Given the description of an element on the screen output the (x, y) to click on. 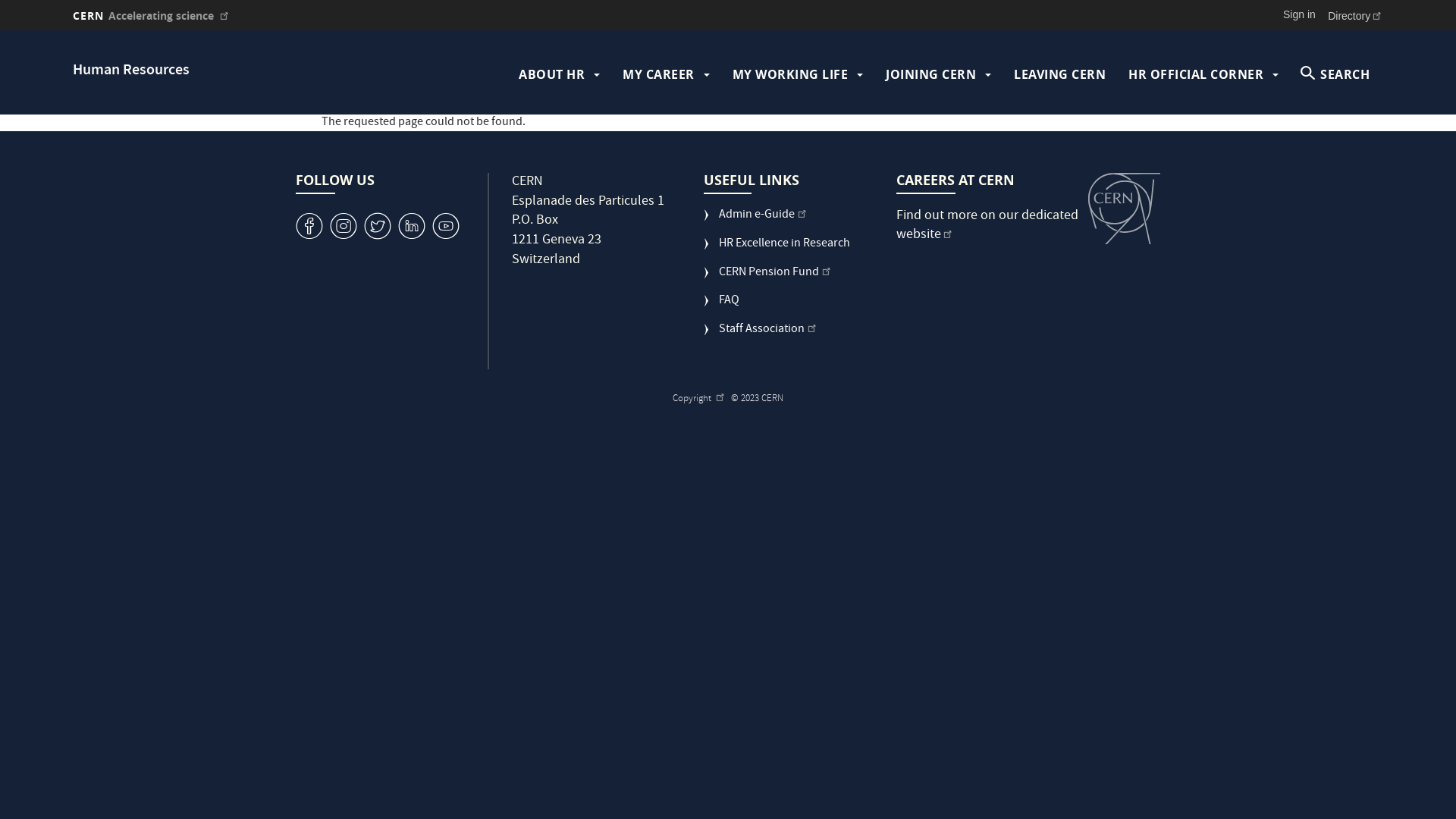
Admin e-Guide(link is external) Element type: text (755, 221)
1 Element type: text (445, 226)
Staff Association(link is external) Element type: text (760, 335)
Copyright (link is external) Element type: text (699, 399)
ABOUT HR Element type: text (551, 74)
Human Resources Element type: text (130, 70)
Sign in Element type: text (1299, 14)
HR OFFICIAL CORNER Element type: text (1195, 74)
HR Excellence in Research Element type: text (776, 249)
Directory(link is external) Element type: text (1355, 14)
J Element type: text (343, 226)
v Element type: text (309, 226)
FAQ Element type: text (721, 306)
CERN Accelerating science (link is external) Element type: text (151, 14)
JOINING CERN Element type: text (930, 74)
W Element type: text (377, 226)
LEAVING CERN Element type: text (1059, 74)
MY WORKING LIFE Element type: text (790, 74)
MY CAREER Element type: text (658, 74)
CERN Pension Fund(link is external) Element type: text (767, 278)
Skip to main content Element type: text (0, 30)
CERN Element type: hover (1124, 208)
website(link is external) Element type: text (925, 235)
SEARCH Element type: text (1335, 74)
M Element type: text (411, 226)
